Given the description of an element on the screen output the (x, y) to click on. 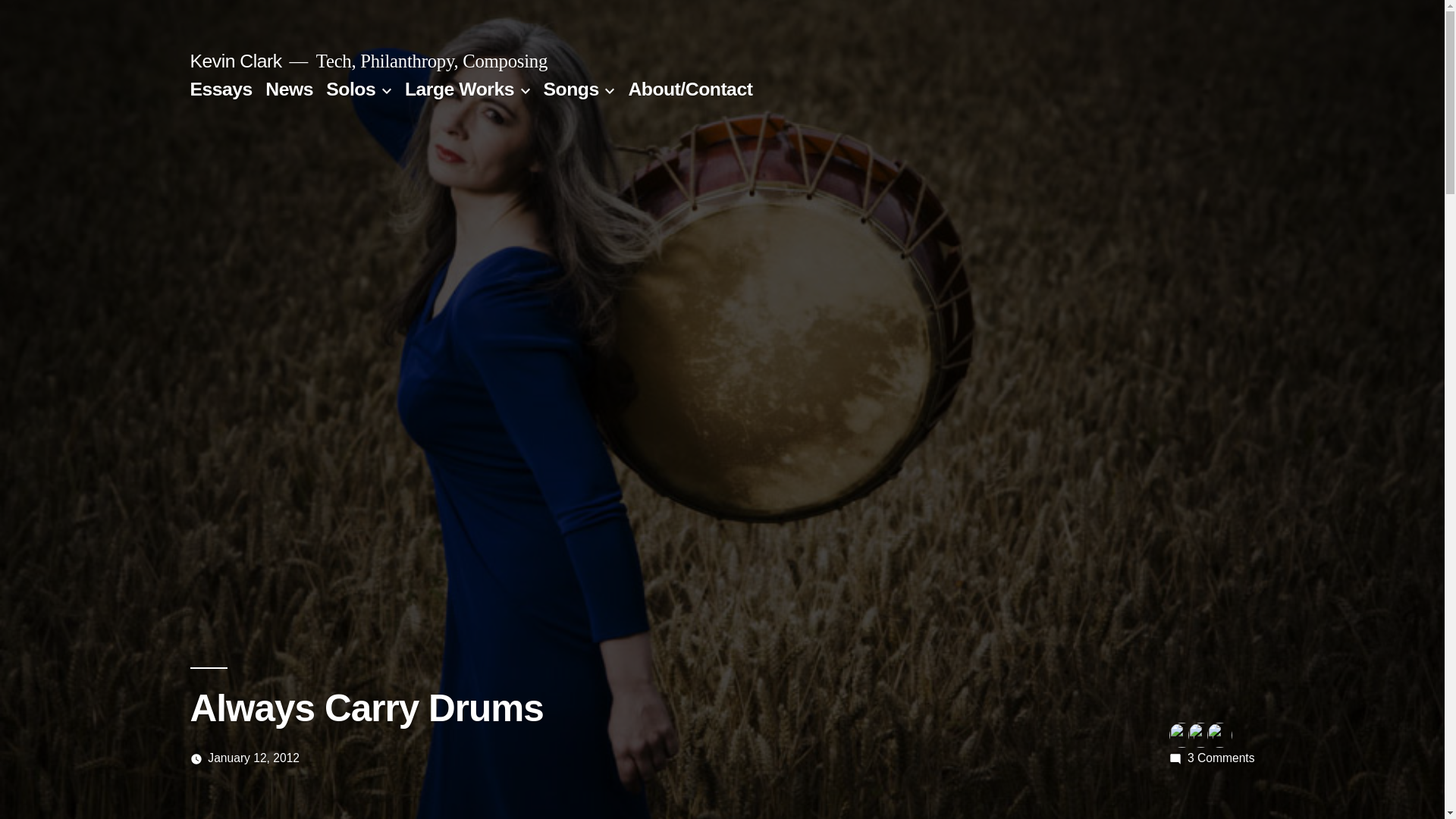
Large Works (458, 88)
News (1221, 757)
Essays (288, 88)
January 12, 2012 (220, 88)
Songs (253, 757)
Solos (570, 88)
Kevin Clark (350, 88)
